Given the description of an element on the screen output the (x, y) to click on. 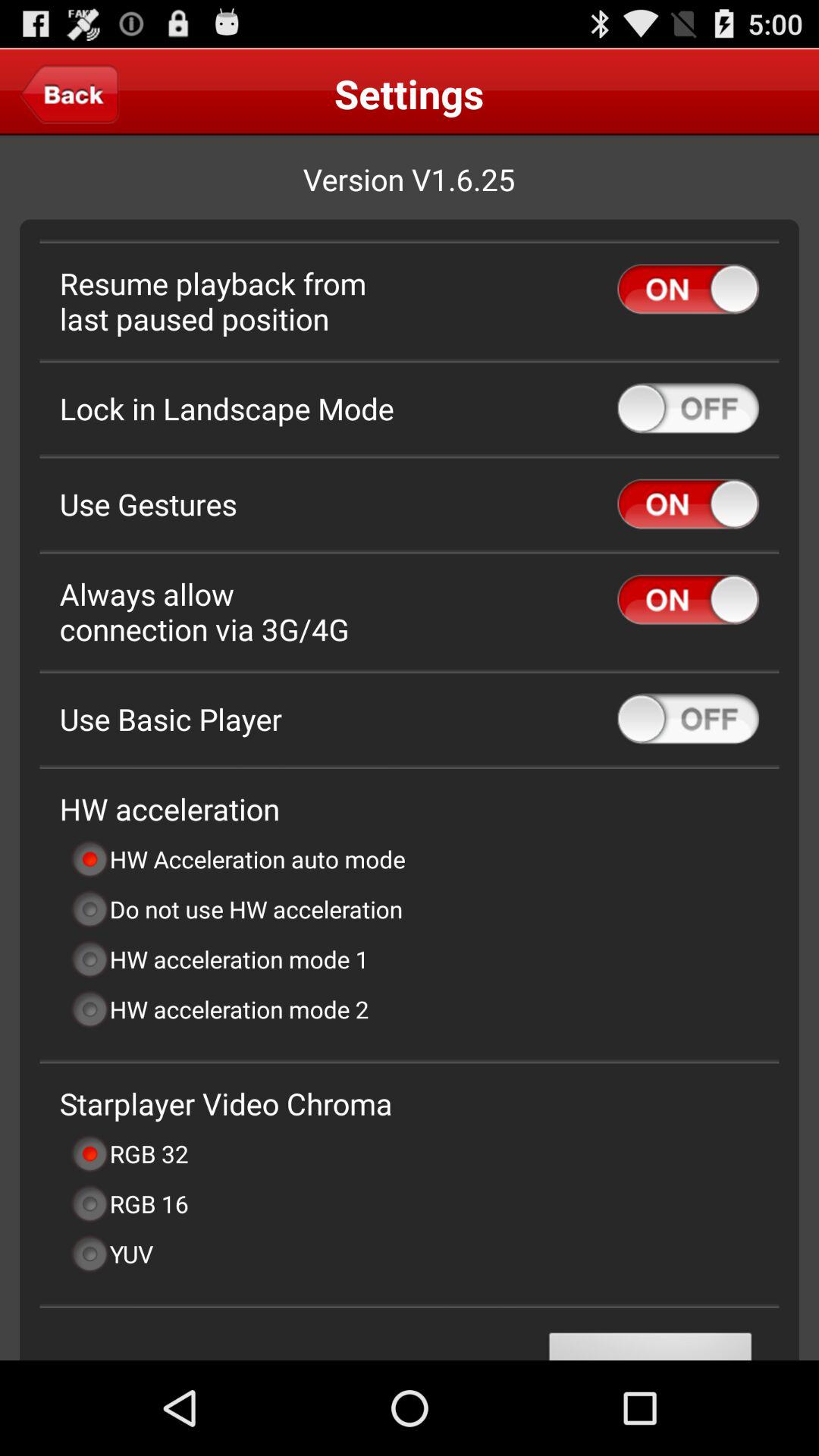
choose the item below rgb 32 item (128, 1203)
